Given the description of an element on the screen output the (x, y) to click on. 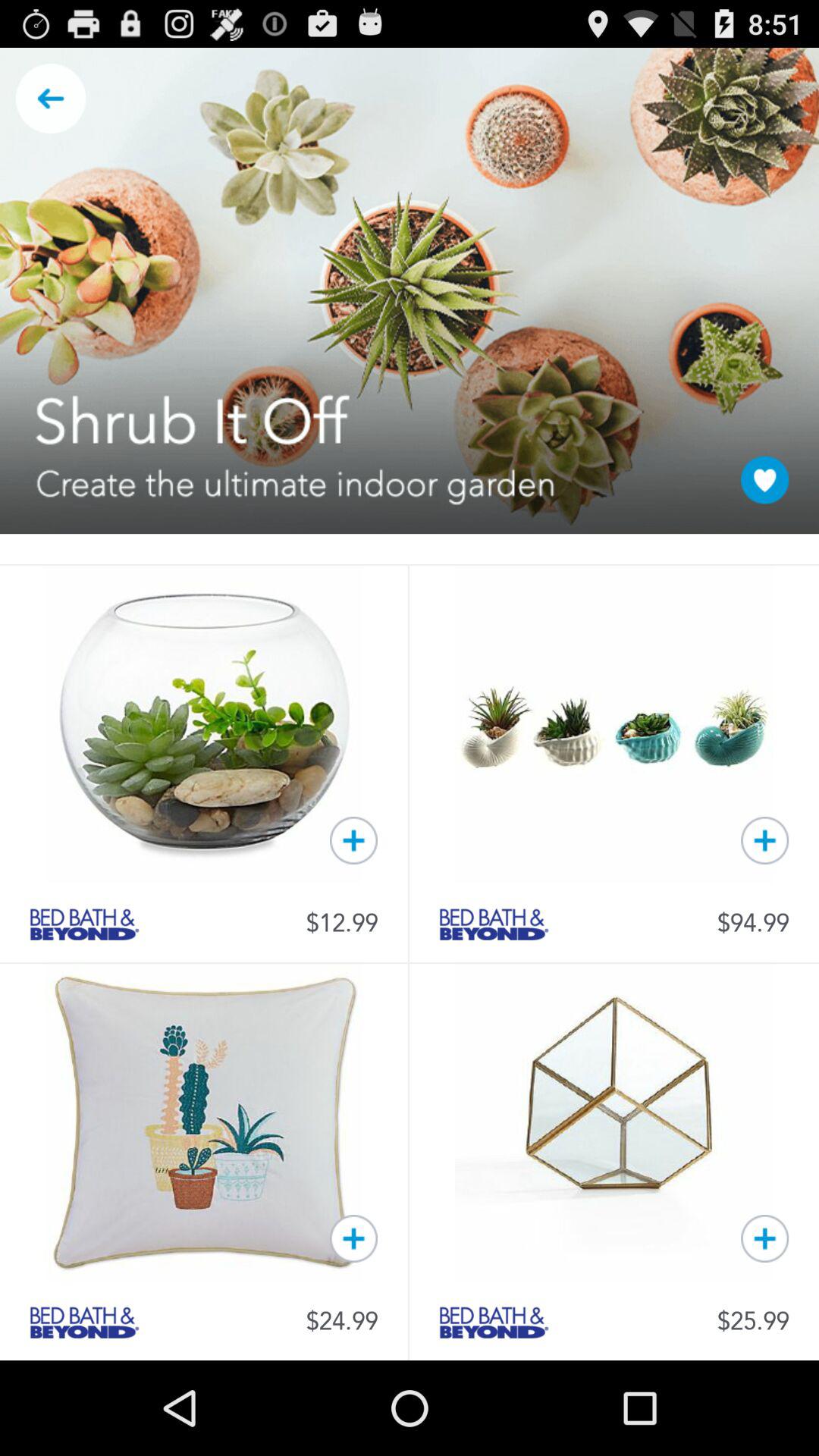
favorite the page (764, 479)
